Given the description of an element on the screen output the (x, y) to click on. 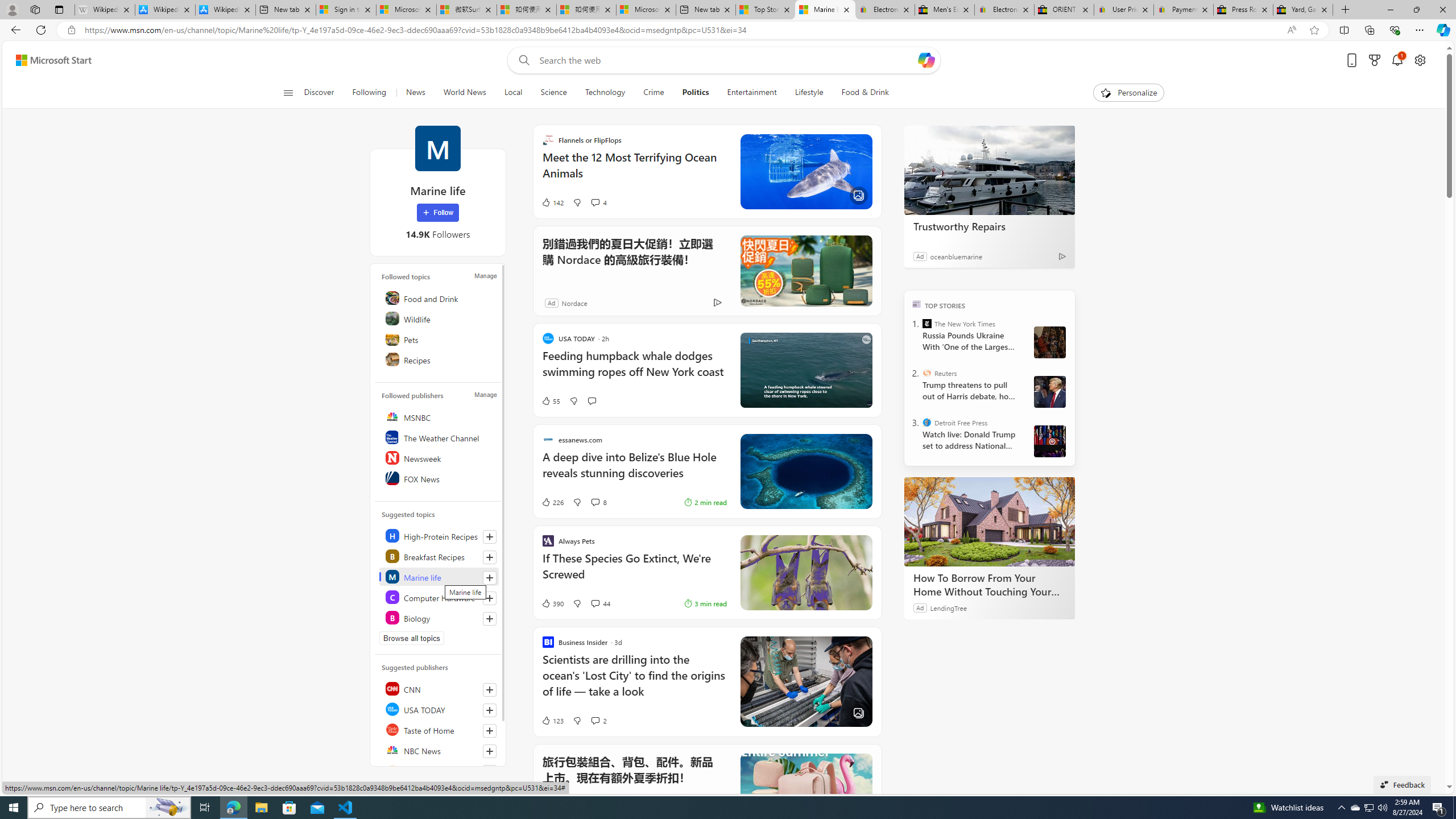
Trustworthy Repairs (988, 226)
TOP (916, 302)
Food and Drink (439, 298)
Fruit bats (805, 572)
55 Like (549, 400)
View comments 2 Comment (598, 720)
